Given the description of an element on the screen output the (x, y) to click on. 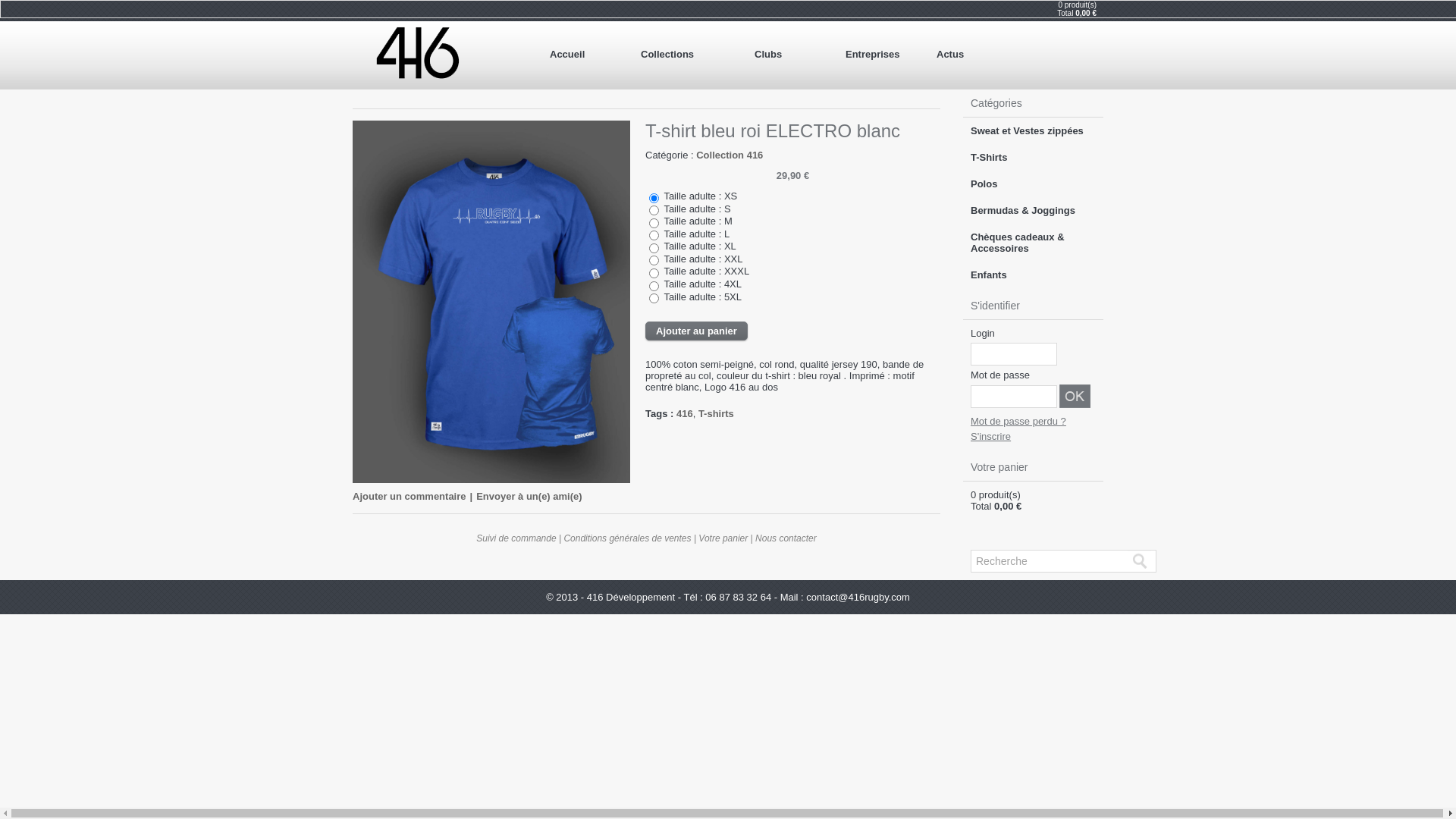
478531| Element type: text (653, 198)
T-shirts Element type: text (716, 413)
Polos Element type: text (1033, 183)
478537| Element type: text (653, 273)
Accueil Element type: text (587, 53)
Nous contacter Element type: text (785, 538)
478534| Element type: text (653, 235)
416 Element type: text (684, 413)
Suivi de commande Element type: text (515, 538)
Mot de passe perdu ? Element type: text (1018, 420)
S'inscrire Element type: text (990, 436)
T-Shirts Element type: text (1033, 157)
Ajouter un commentaire Element type: text (409, 496)
Collection 416 Element type: text (729, 154)
Votre panier Element type: text (722, 538)
Collections Element type: text (689, 53)
Bermudas & Joggings Element type: text (1033, 210)
Actus Element type: text (973, 53)
478532| Element type: text (653, 210)
Enfants Element type: text (1033, 274)
Ajouter au panier Element type: text (696, 330)
Entreprises Element type: text (882, 53)
416 Wear Element type: hover (417, 53)
Clubs Element type: text (791, 53)
478539| Element type: text (653, 298)
478533| Element type: text (653, 223)
478535| Element type: text (653, 248)
478538| Element type: text (653, 286)
478536| Element type: text (653, 260)
OK Element type: hover (1074, 395)
